Given the description of an element on the screen output the (x, y) to click on. 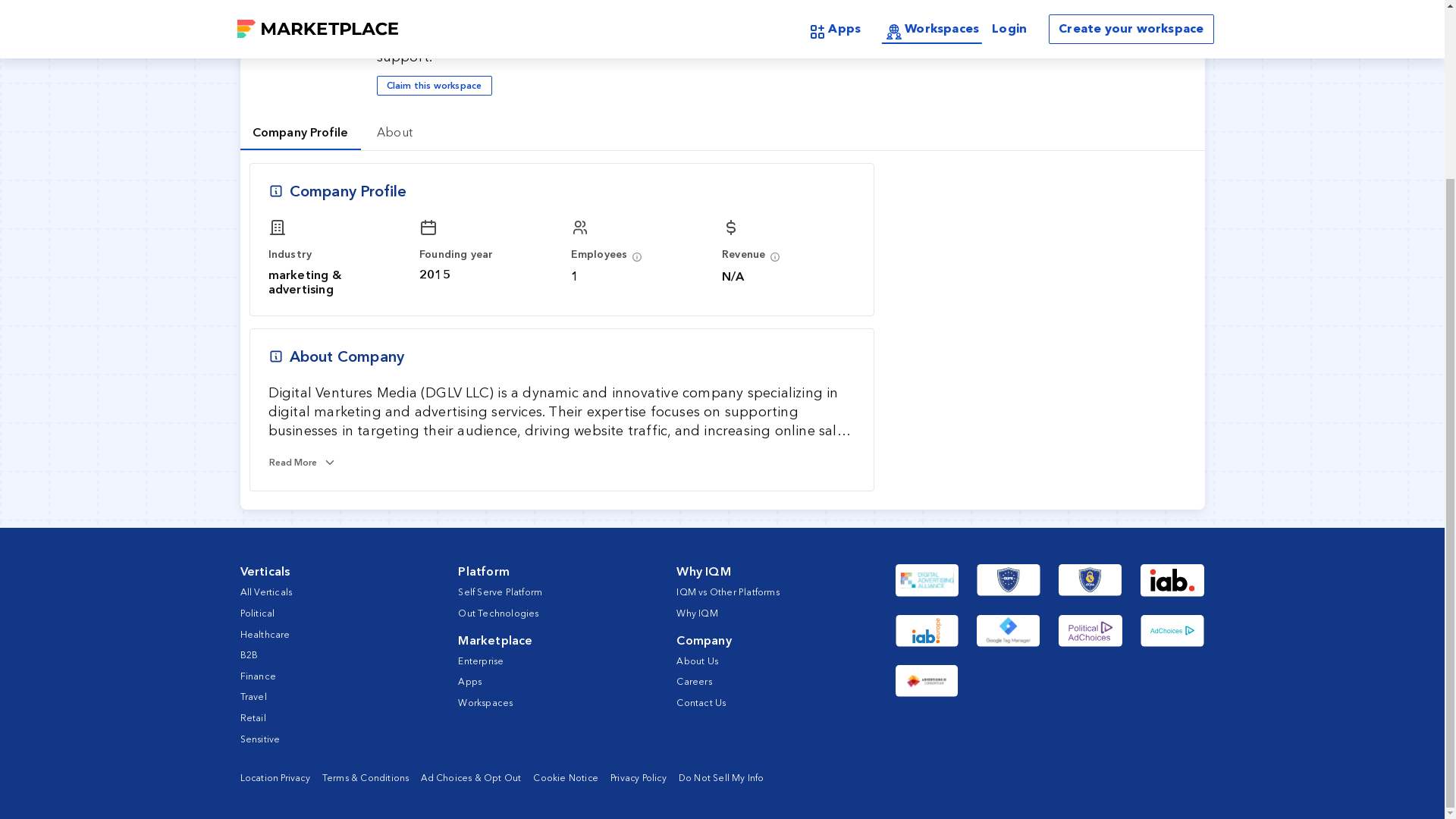
Contact Us (701, 702)
Apps (469, 681)
Careers (694, 681)
Claim this workspace (433, 85)
Retail (252, 717)
Visit Site (1123, 10)
About (395, 131)
Enterprise (480, 660)
B2B (248, 654)
About Us (697, 660)
